Given the description of an element on the screen output the (x, y) to click on. 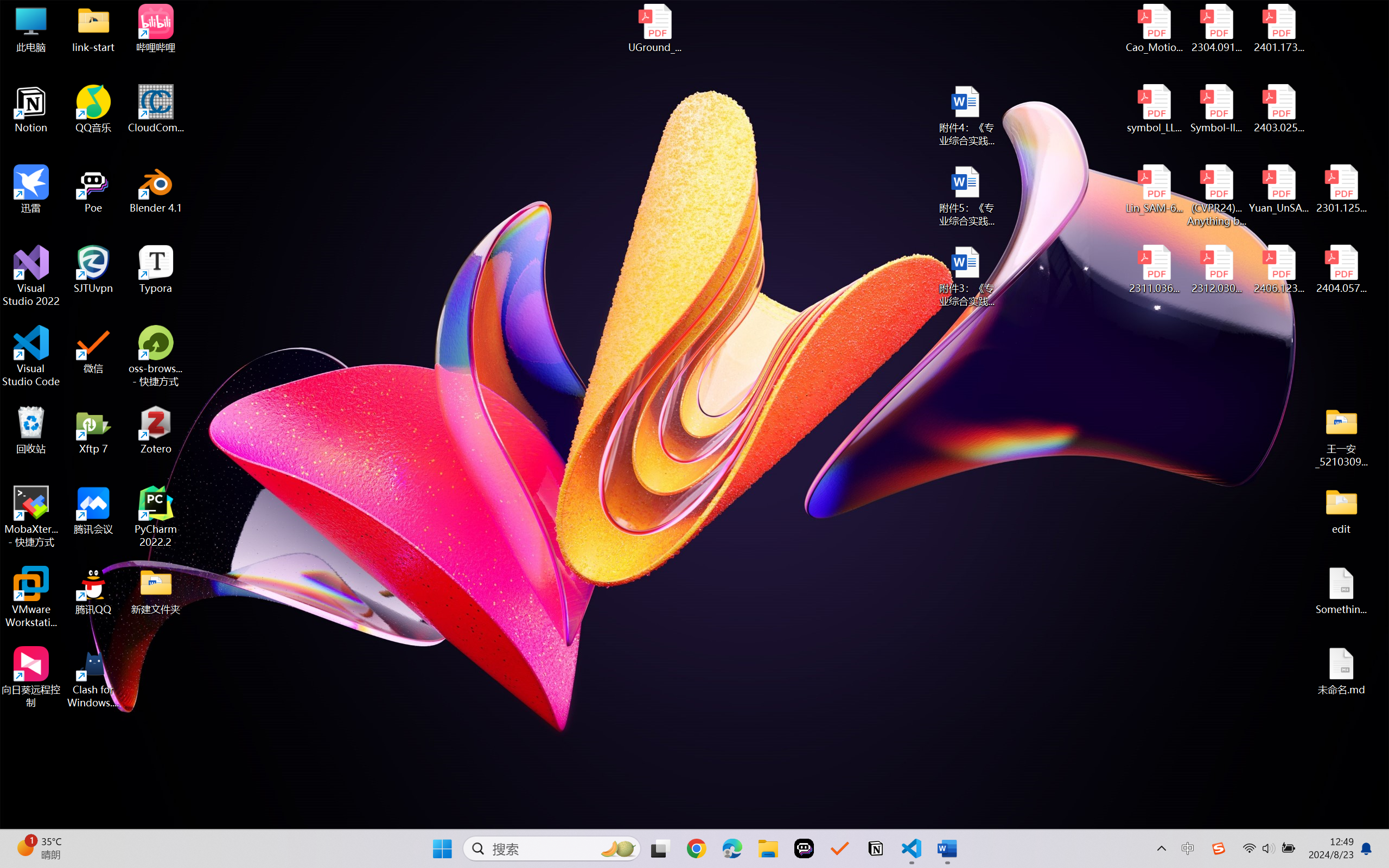
(CVPR24)Matching Anything by Segmenting Anything.pdf (1216, 195)
Microsoft Edge (731, 848)
2406.12373v2.pdf (1278, 269)
